Given the description of an element on the screen output the (x, y) to click on. 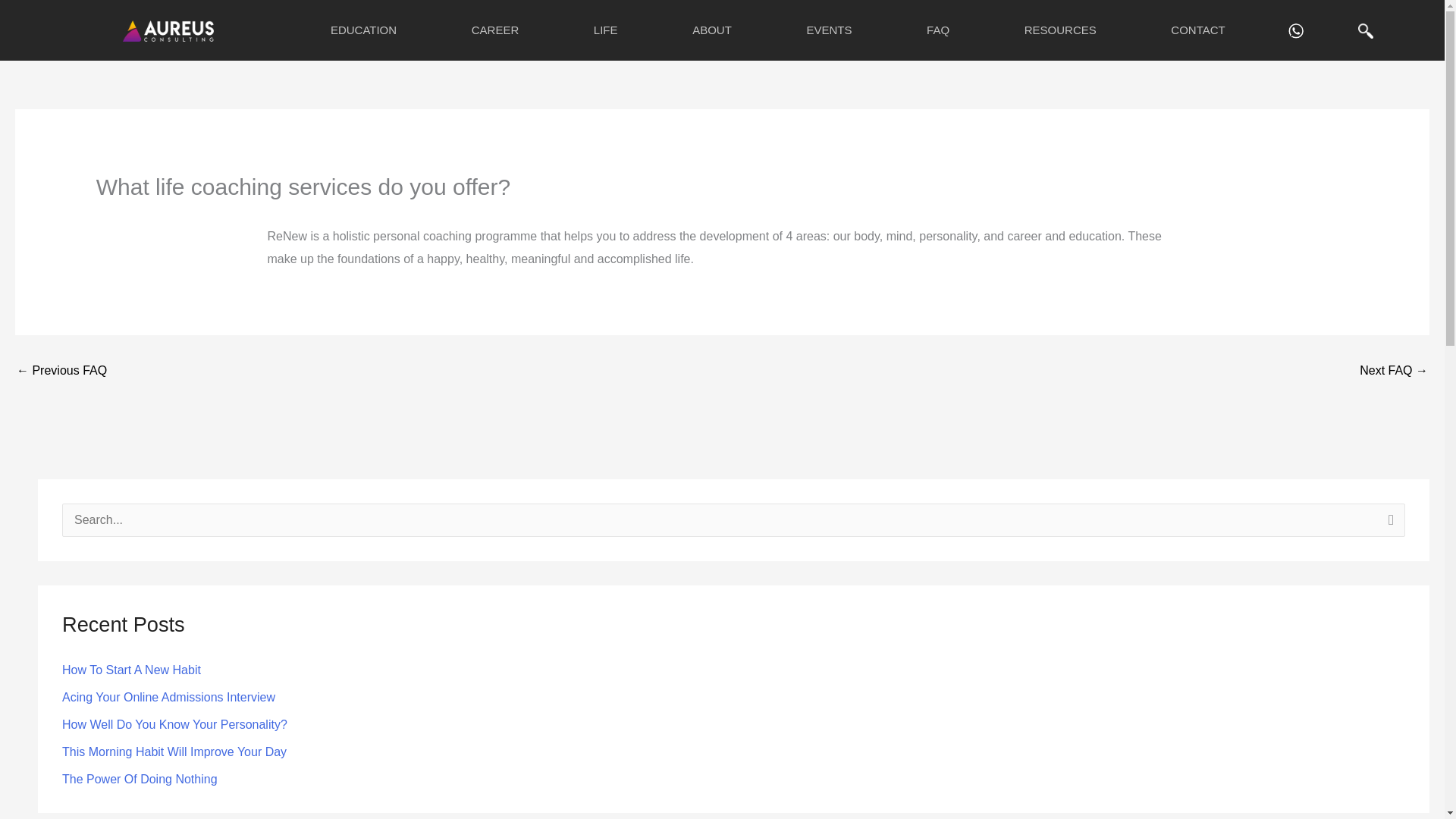
CONTACT (1198, 30)
ABOUT (711, 30)
FAQ (938, 30)
CAREER (494, 30)
Who are your coaches? (1393, 370)
EVENTS (828, 30)
EDUCATION (363, 30)
RESOURCES (1060, 30)
LIFE (605, 30)
